Given the description of an element on the screen output the (x, y) to click on. 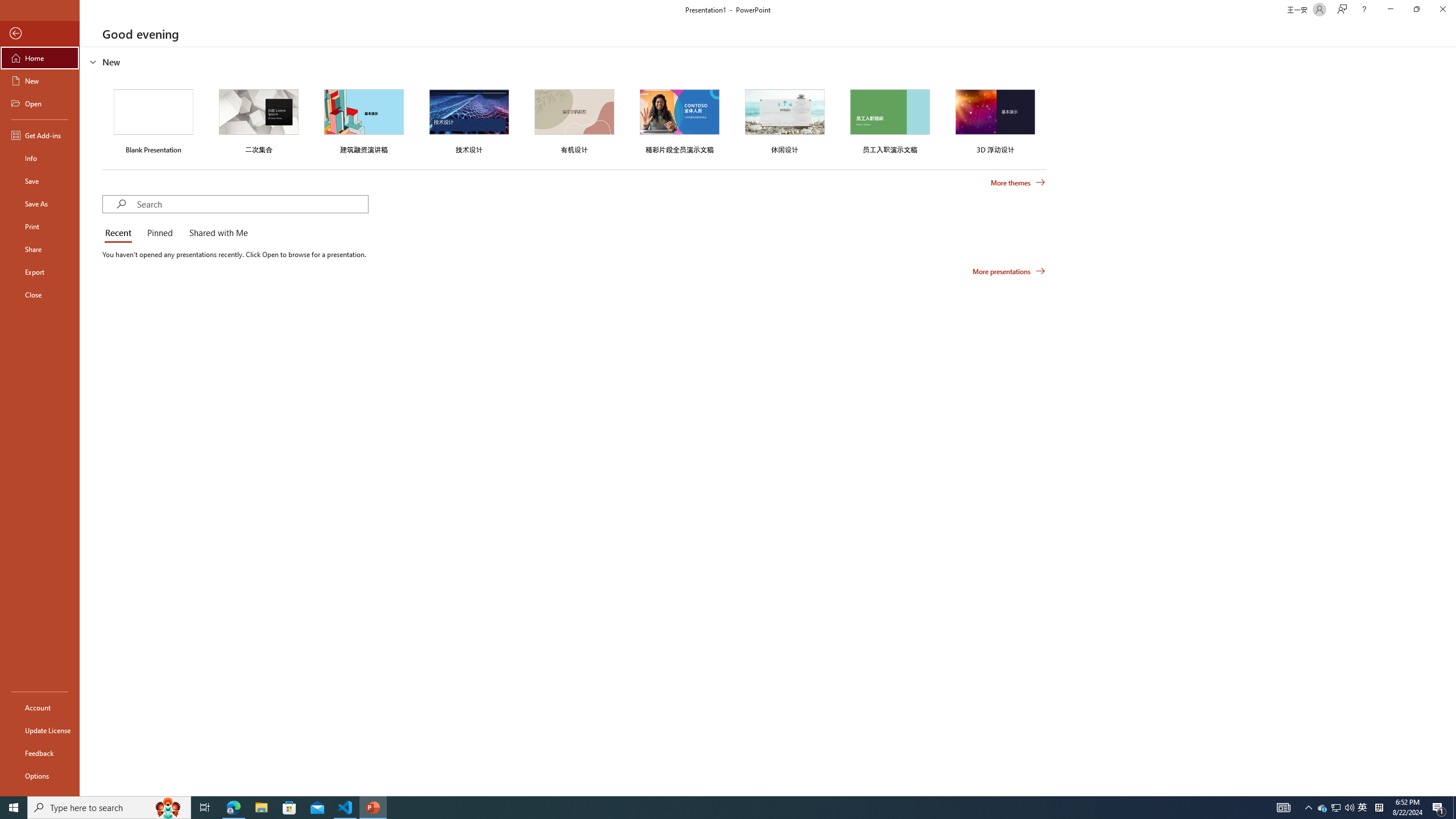
More presentations (1008, 270)
Back (40, 33)
Pinned (159, 233)
Print (40, 225)
More themes (1018, 182)
Get Add-ins (40, 134)
Export (40, 271)
